Given the description of an element on the screen output the (x, y) to click on. 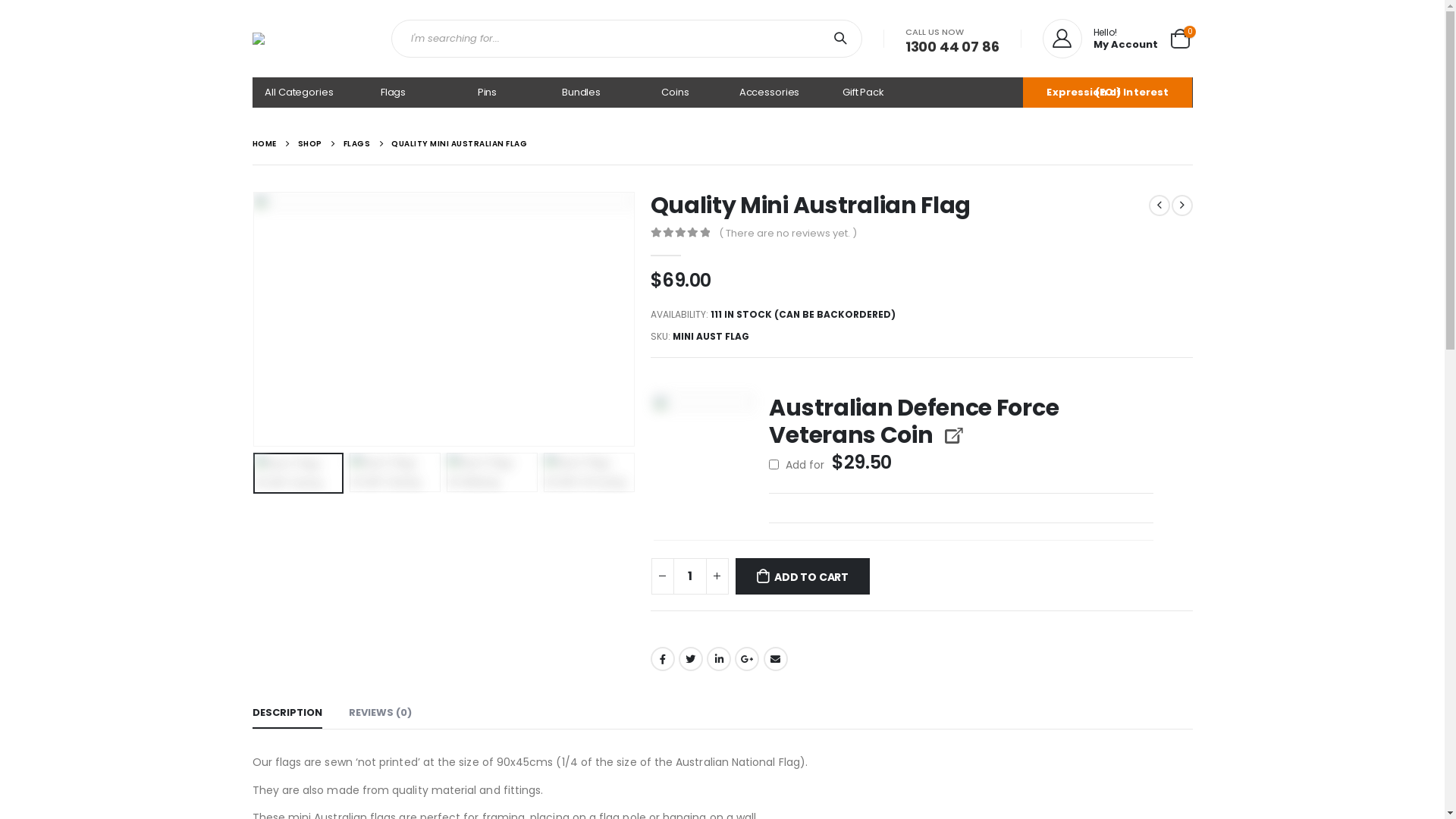
ADD TO CART Element type: text (802, 576)
LinkedIn Element type: text (718, 658)
Qty Element type: hover (689, 576)
( There are no reviews yet. ) Element type: text (790, 232)
Bundles Element type: text (580, 92)
Coins Element type: text (674, 92)
DSC04886.jpg Element type: hover (703, 444)
Aust-Flag-Small-v1.png Element type: hover (443, 318)
Pins Element type: text (486, 92)
FLAGS Element type: text (356, 143)
- Element type: text (661, 576)
Search Element type: hover (843, 38)
Twitter Element type: text (690, 658)
SHOP Element type: text (309, 143)
+ Element type: text (716, 576)
Email Element type: text (775, 658)
HOME Element type: text (263, 143)
All Categories Element type: text (298, 92)
Expression of Interest (EOI) Element type: text (1107, 92)
Flags Element type: text (392, 92)
Gift Pack Element type: text (862, 92)
Accessories Element type: text (768, 92)
Facebook Element type: text (662, 658)
Hello!
My Account Element type: text (1099, 38)
Google + Element type: text (746, 658)
